Given the description of an element on the screen output the (x, y) to click on. 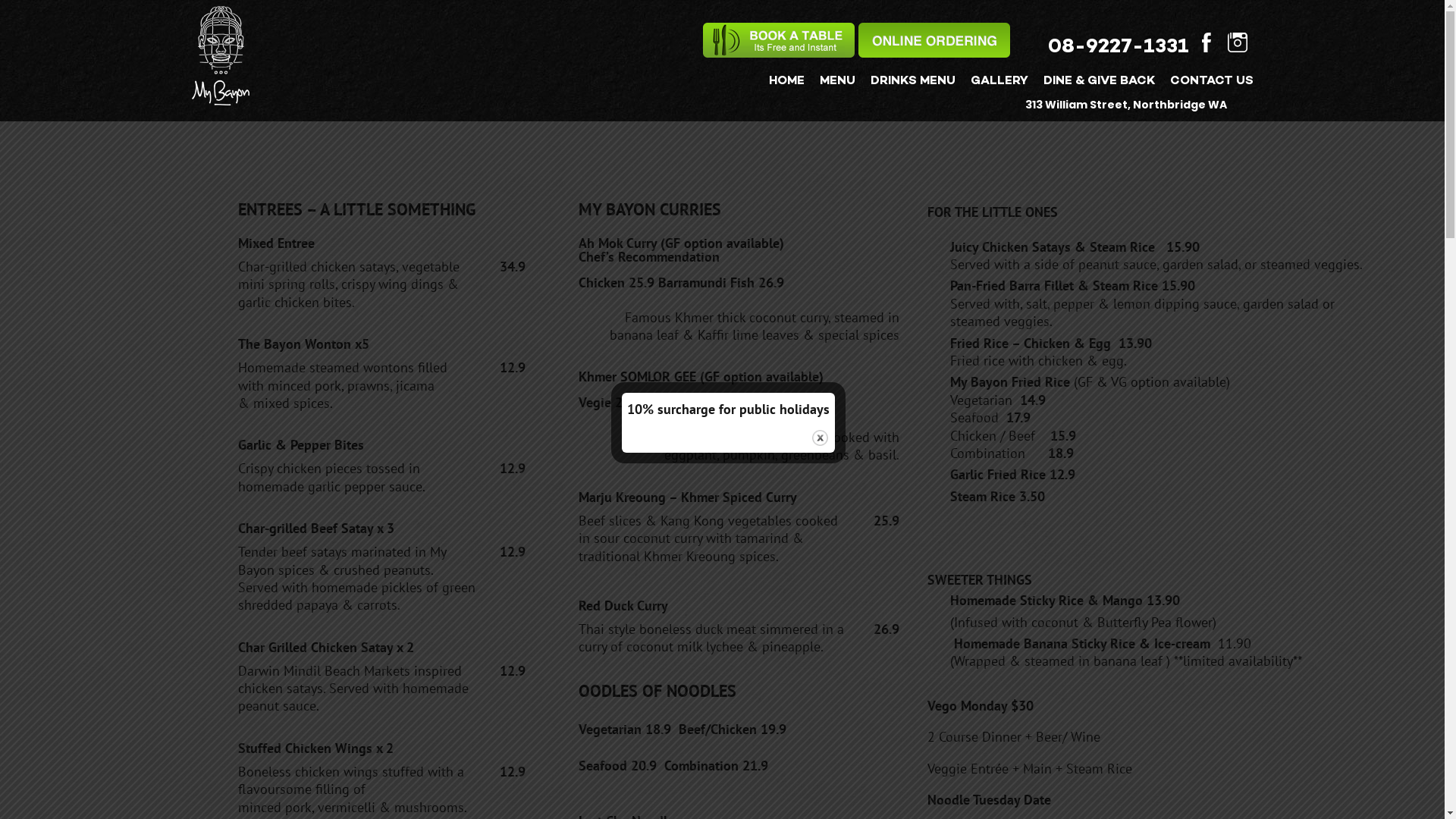
08-9227-1331 Element type: text (1121, 47)
CONTACT US Element type: text (1210, 81)
DRINKS MENU Element type: text (912, 81)
GALLERY Element type: text (999, 81)
ORDER ONLINE Element type: text (934, 39)
DINE & GIVE BACK Element type: text (1098, 81)
BOOK A TABLE Element type: text (777, 39)
HOME Element type: text (786, 81)
MENU Element type: text (836, 81)
